Given the description of an element on the screen output the (x, y) to click on. 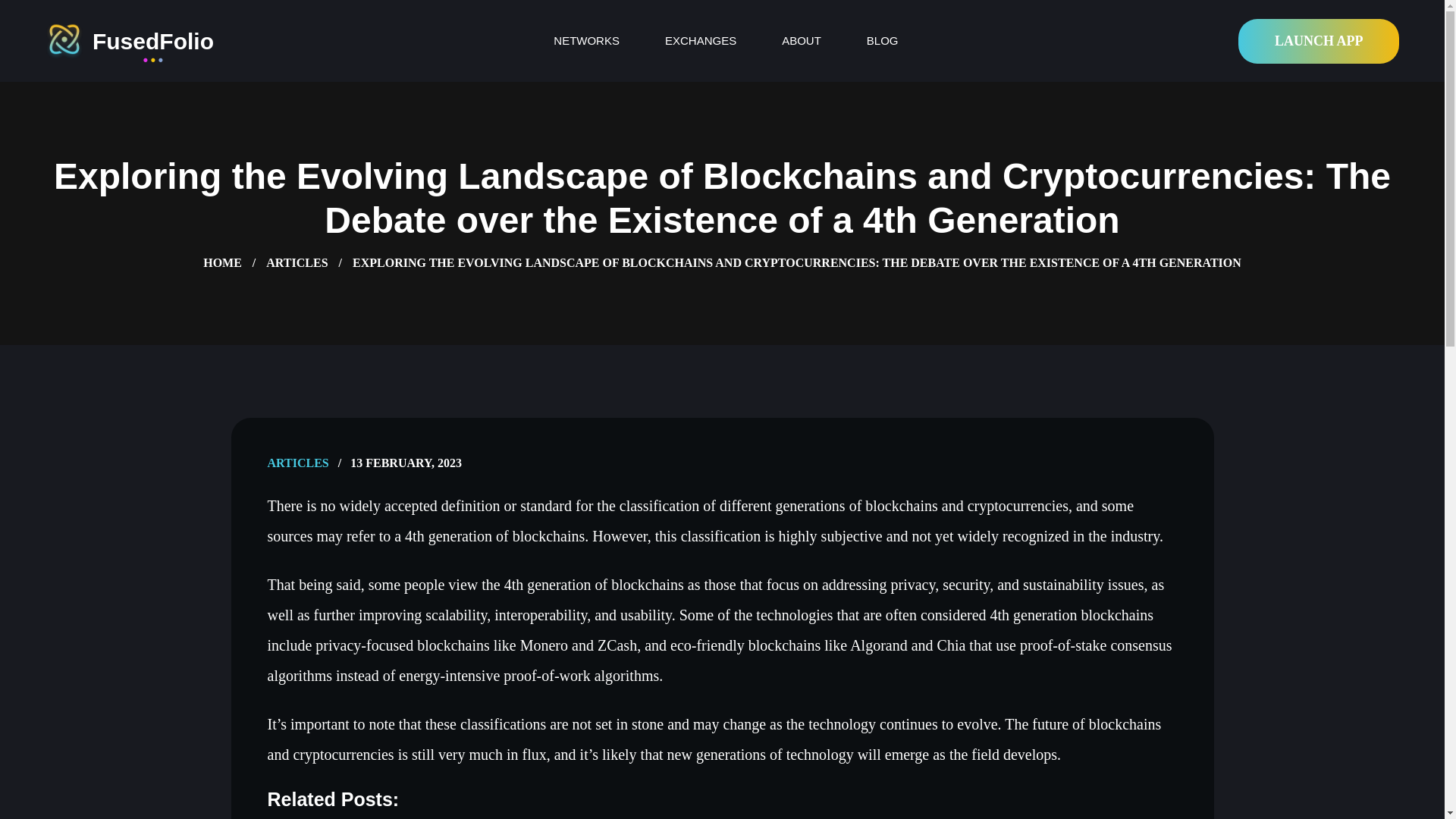
BLOG (882, 40)
FusedFolio (129, 40)
EXCHANGES (700, 40)
ARTICLES (297, 462)
ABOUT (801, 40)
HOME (222, 262)
ARTICLES (296, 262)
NETWORKS (586, 40)
LAUNCH APP (1319, 40)
